Given the description of an element on the screen output the (x, y) to click on. 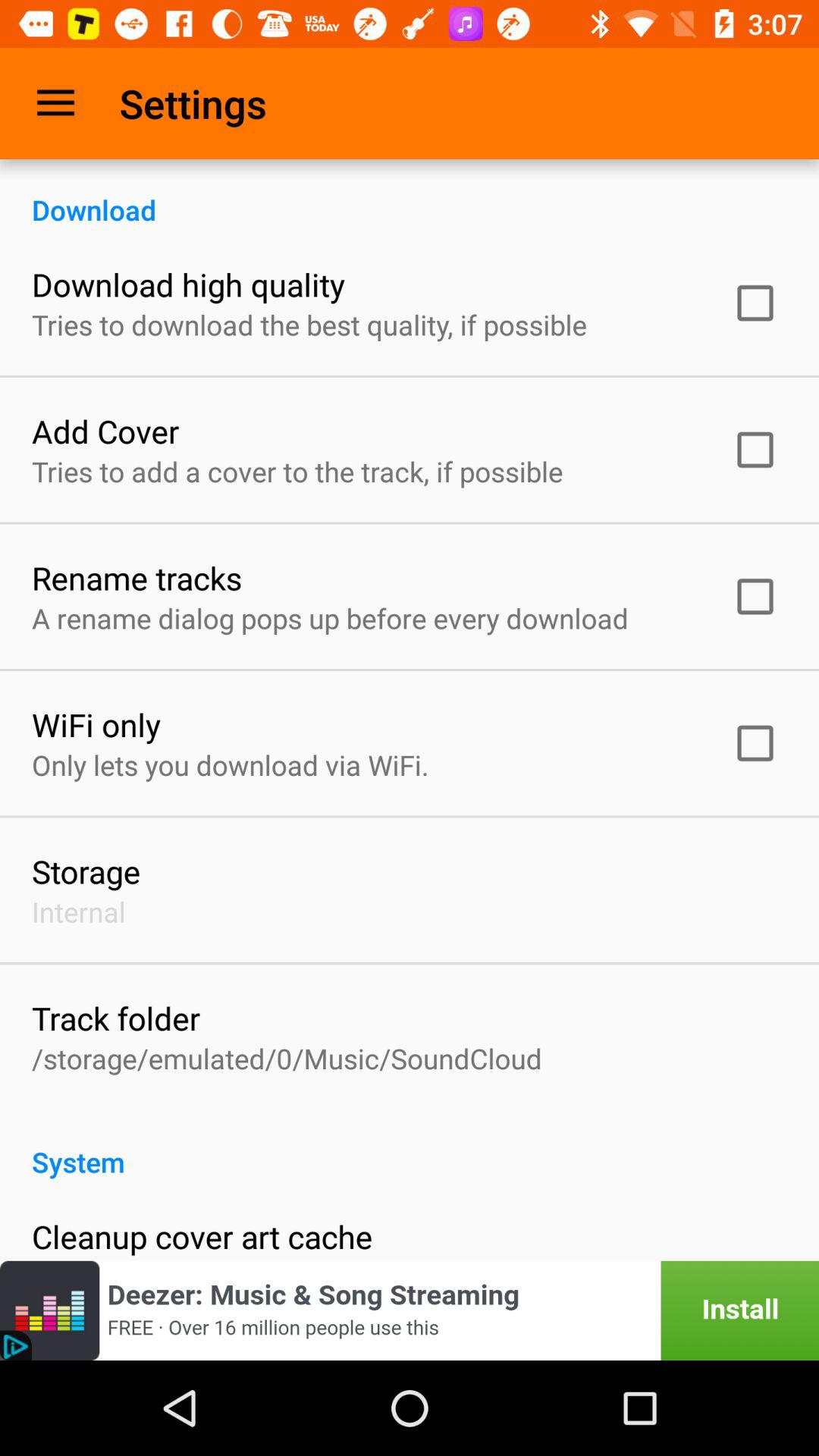
install app (409, 1310)
